Given the description of an element on the screen output the (x, y) to click on. 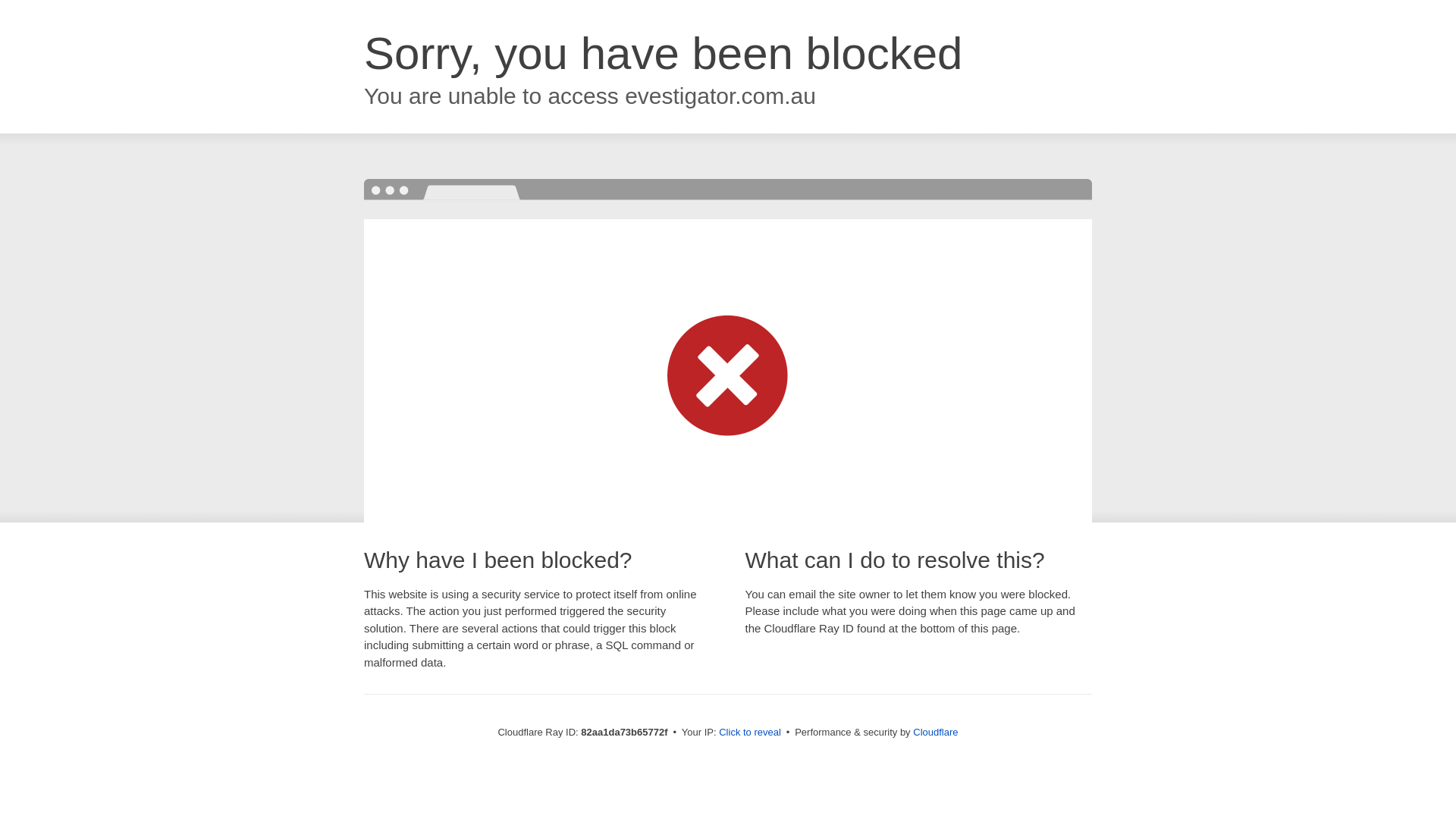
Click to reveal Element type: text (749, 732)
Cloudflare Element type: text (935, 731)
